Given the description of an element on the screen output the (x, y) to click on. 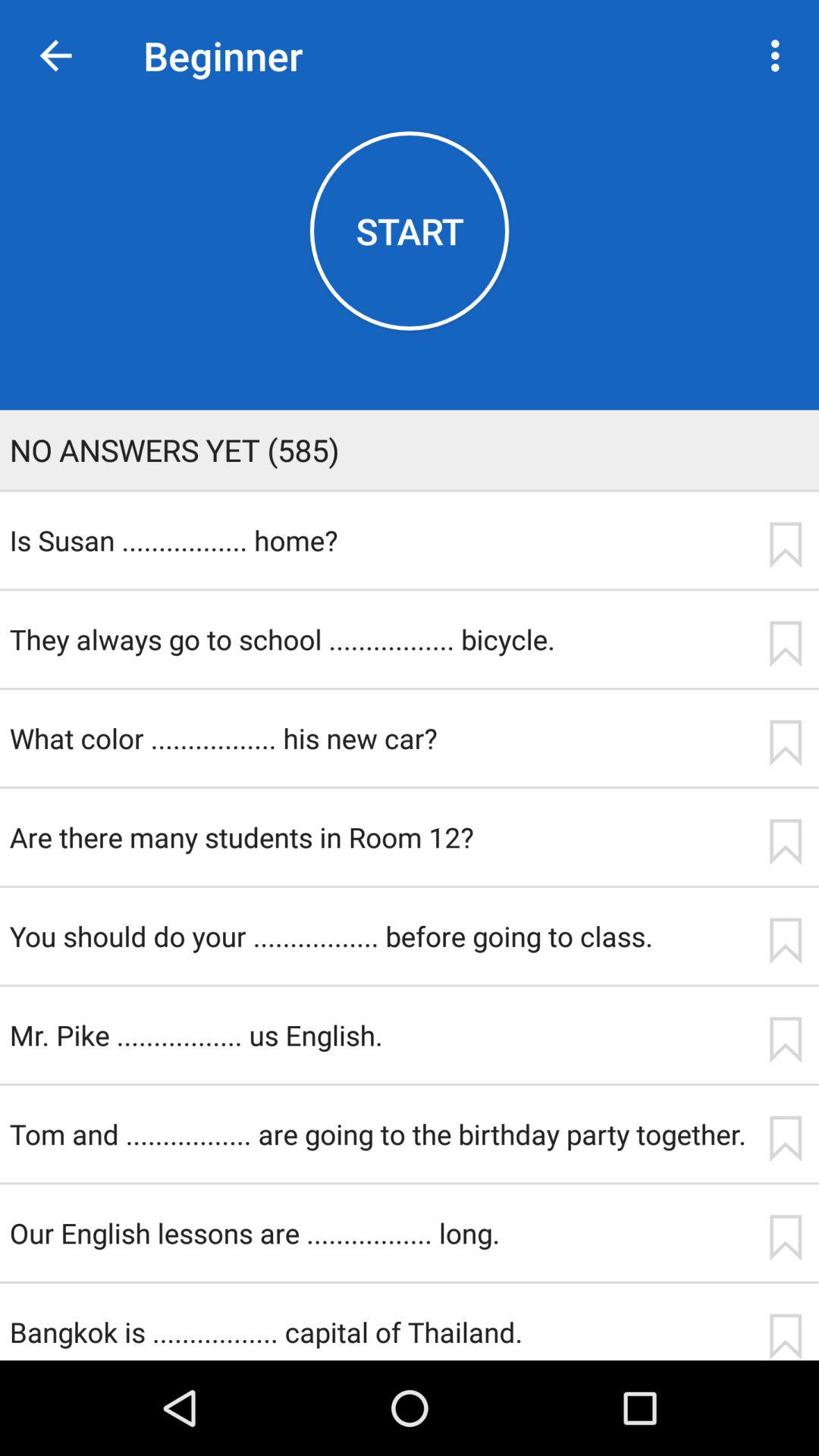
turn on icon to the right of they always go item (784, 643)
